Given the description of an element on the screen output the (x, y) to click on. 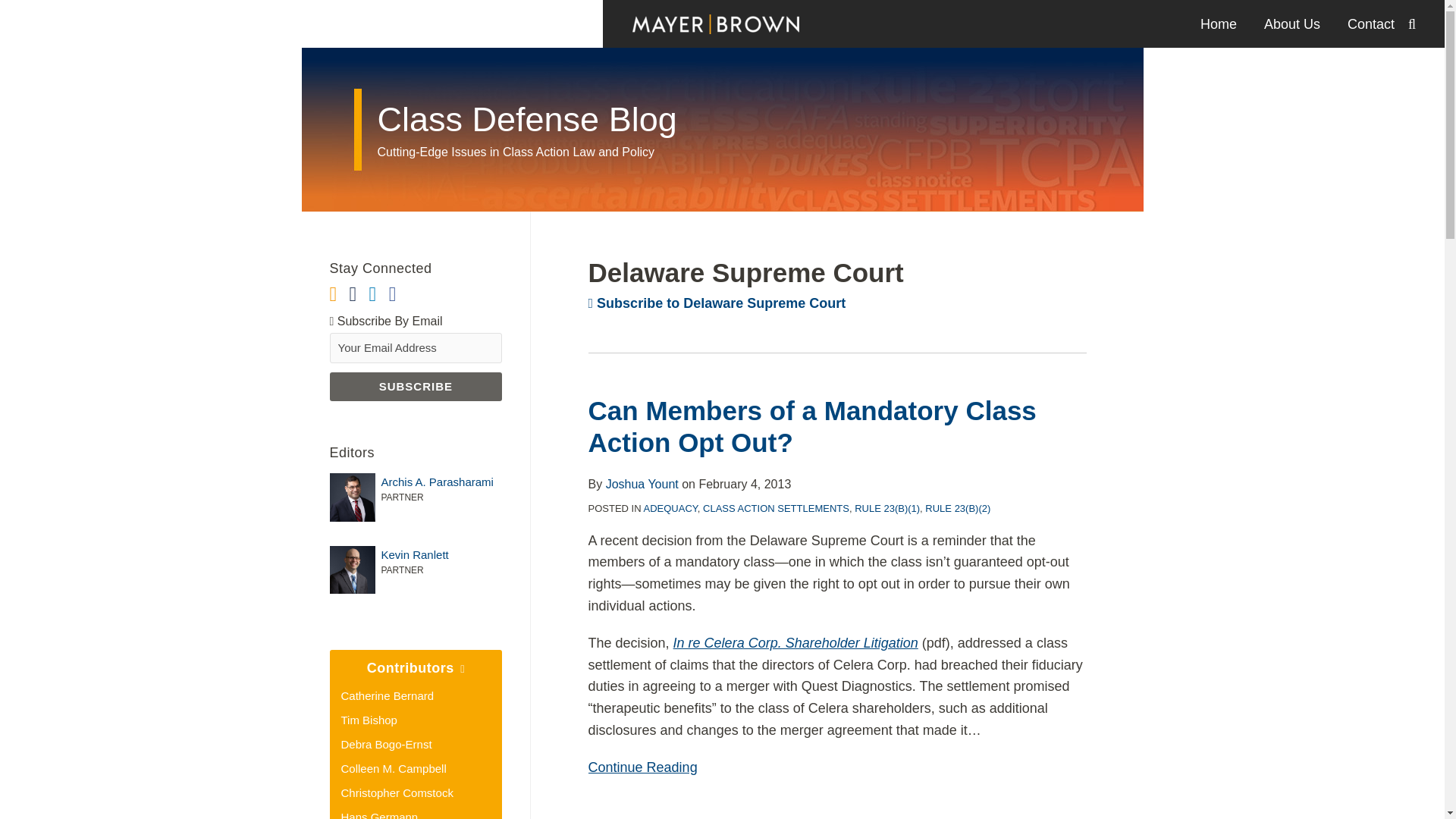
Home (1217, 24)
Contact (1371, 24)
Hans Germann (379, 814)
Joshua Yount (641, 483)
Tim Bishop (368, 719)
Colleen M. Campbell (393, 768)
Kevin Ranlett (415, 555)
Subscribe (415, 386)
Debra Bogo-Ernst (386, 744)
Christopher Comstock (396, 792)
Subscribe (415, 386)
Class Defense Blog (527, 118)
About Us (1291, 24)
Can Members of a Mandatory Class Action Opt Out? (812, 426)
